Given the description of an element on the screen output the (x, y) to click on. 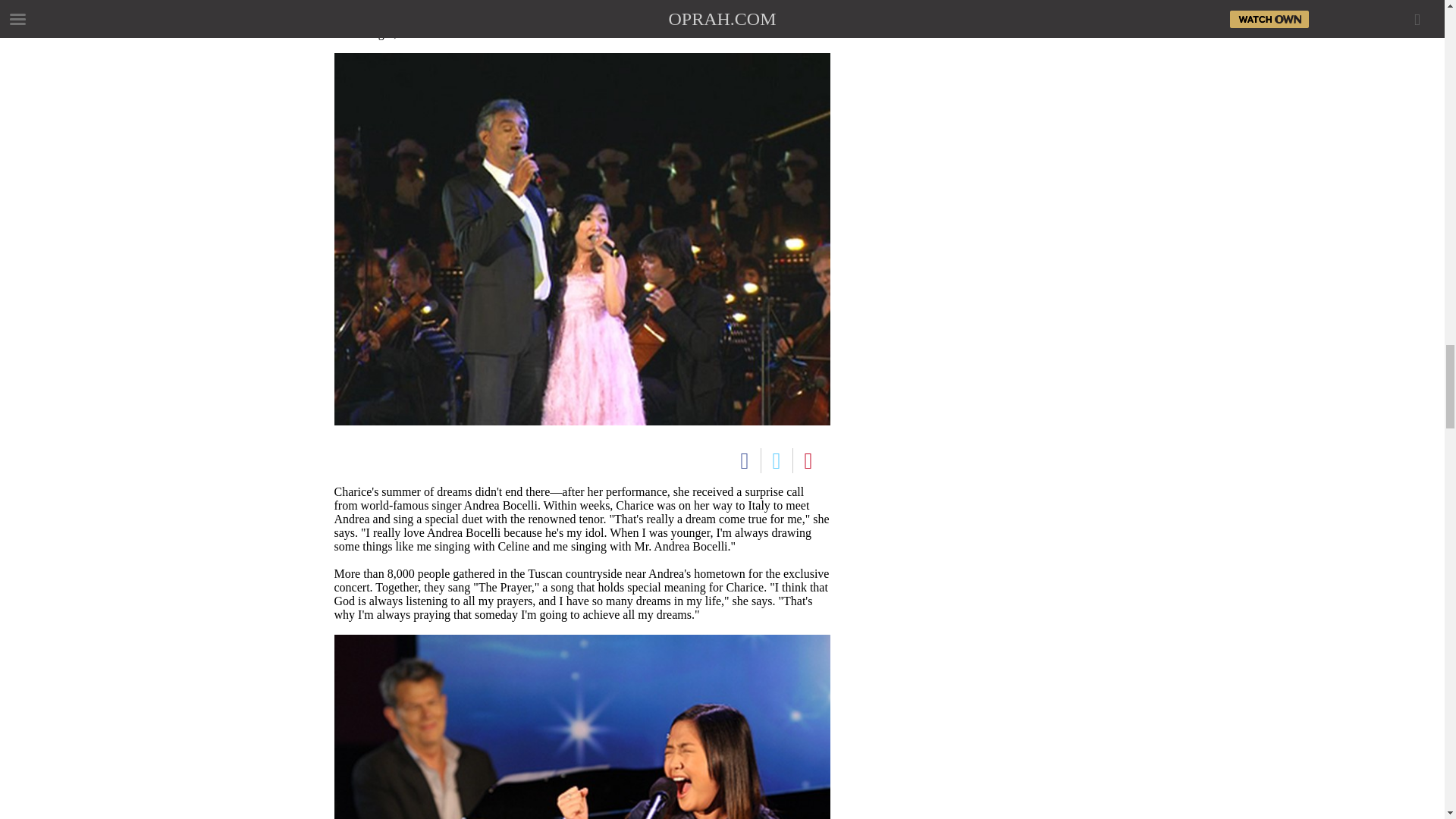
Charice Pempengco sings "My Heart Will Go On." (581, 726)
